Given the description of an element on the screen output the (x, y) to click on. 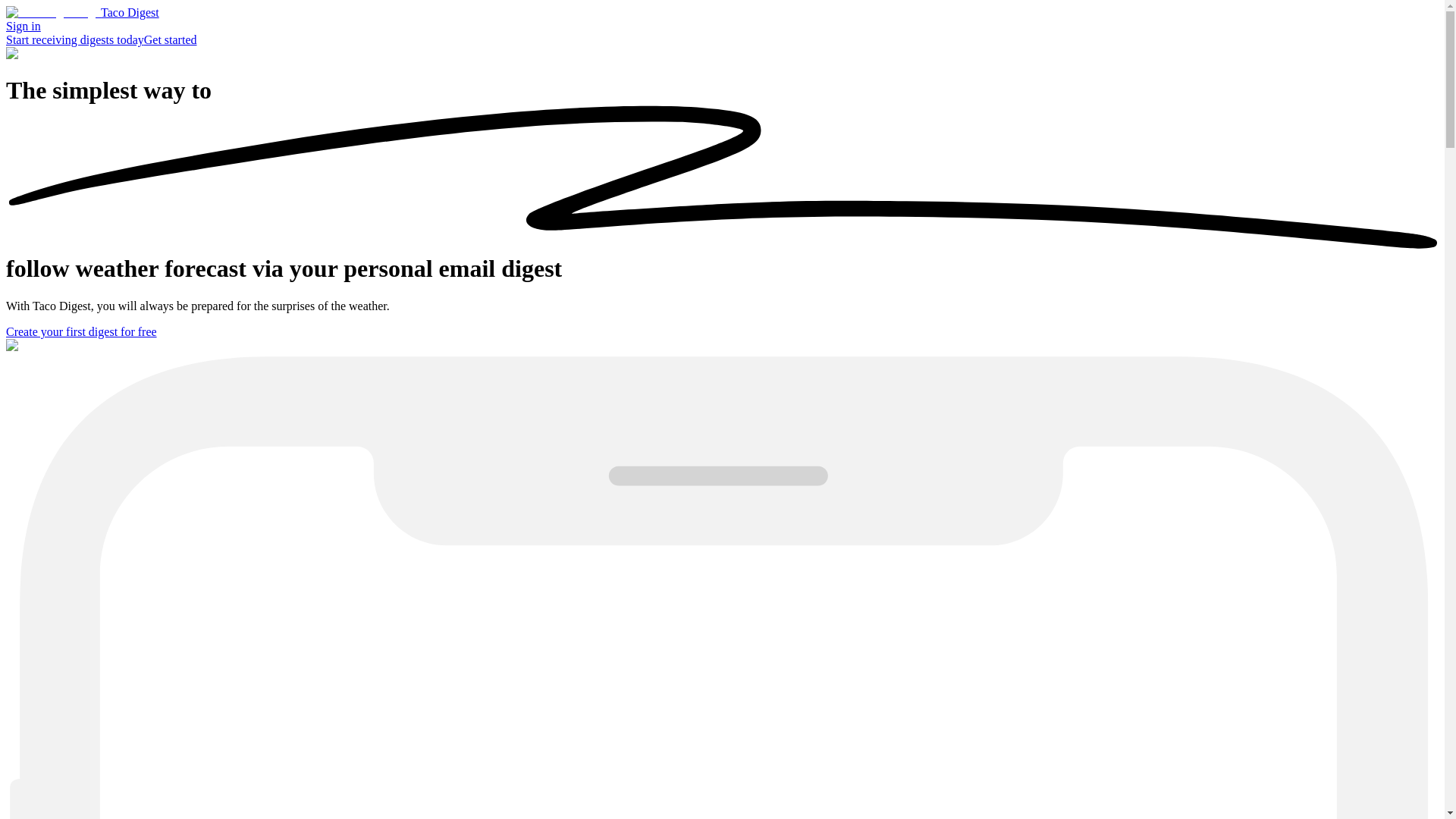
Create your first digest for free (81, 331)
Start receiving digests todayGet started (100, 39)
Sign in (22, 25)
